Given the description of an element on the screen output the (x, y) to click on. 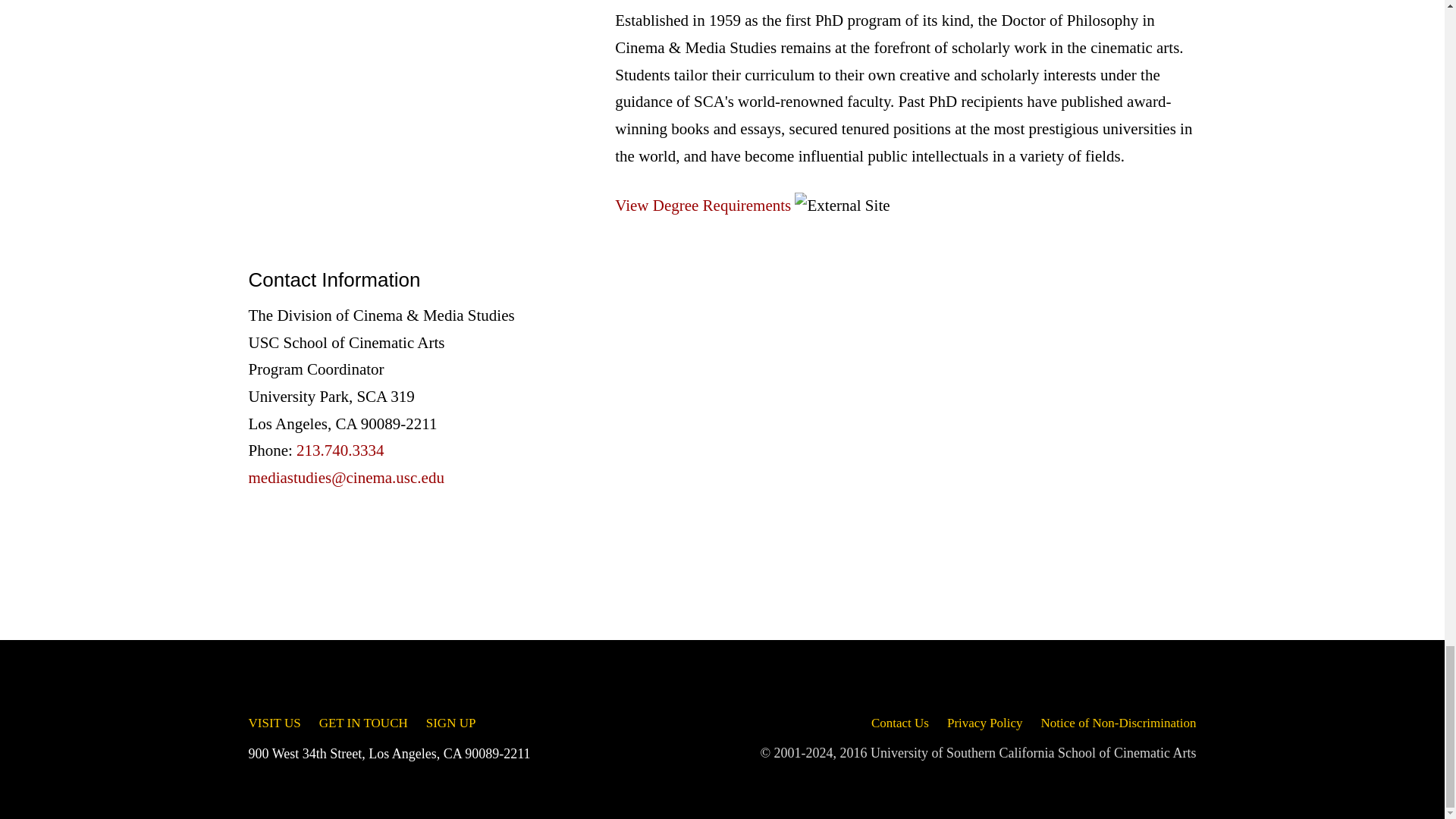
Read the USC School of Cinematic Arts Privacy Policy (985, 722)
Notice of Non-Discrimination (1118, 722)
